Given the description of an element on the screen output the (x, y) to click on. 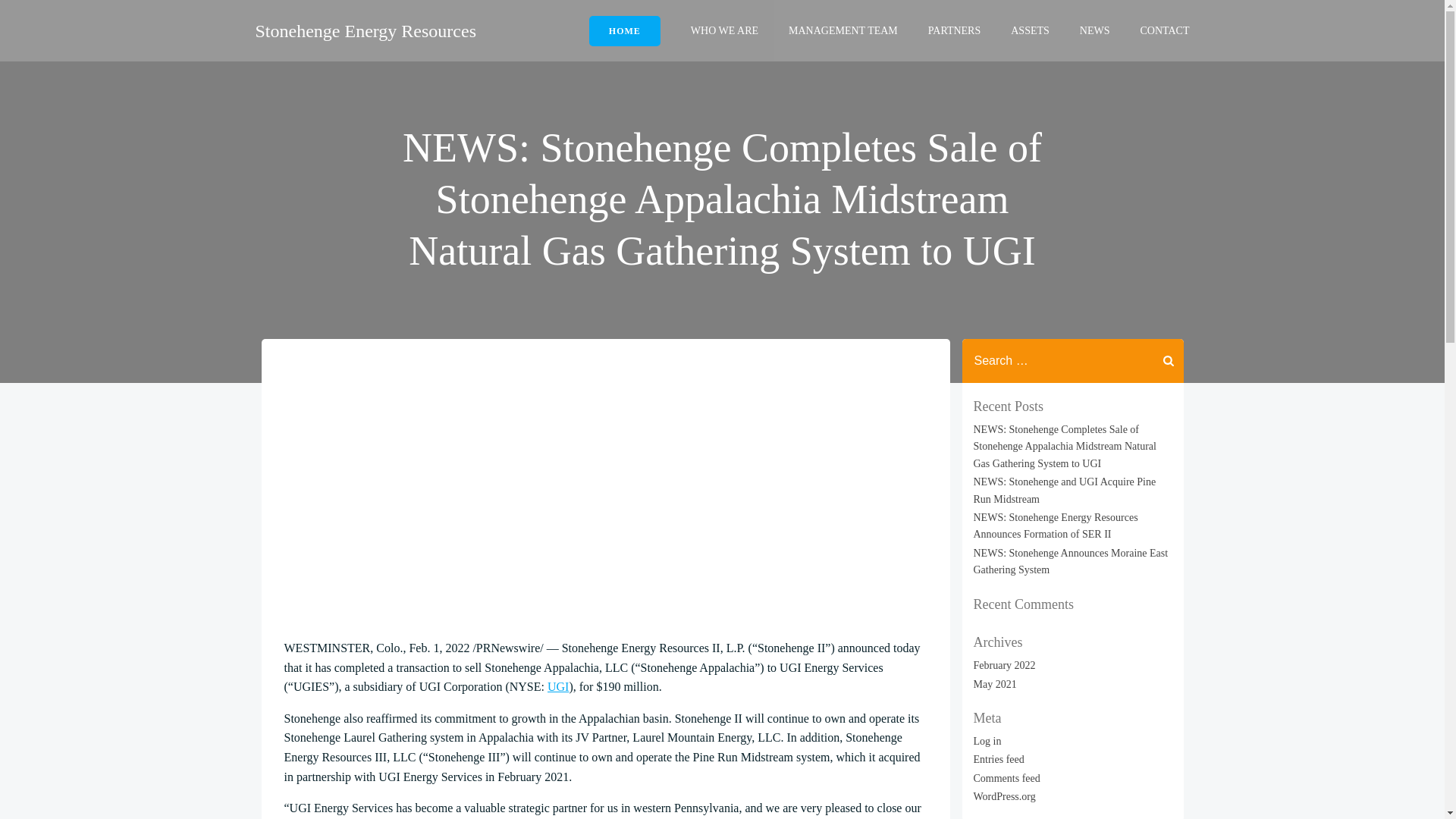
WHO WE ARE (724, 30)
NEWS: Stonehenge and UGI Acquire Pine Run Midstream (1065, 489)
Entries feed (999, 758)
ASSETS (1029, 30)
February 2022 (1004, 665)
CONTACT (1164, 30)
Stonehenge Energy Resources (365, 30)
May 2021 (995, 684)
HOME (625, 30)
Comments feed (1007, 778)
PARTNERS (953, 30)
Search  (29, 22)
UGI (558, 686)
Log in (987, 740)
